Given the description of an element on the screen output the (x, y) to click on. 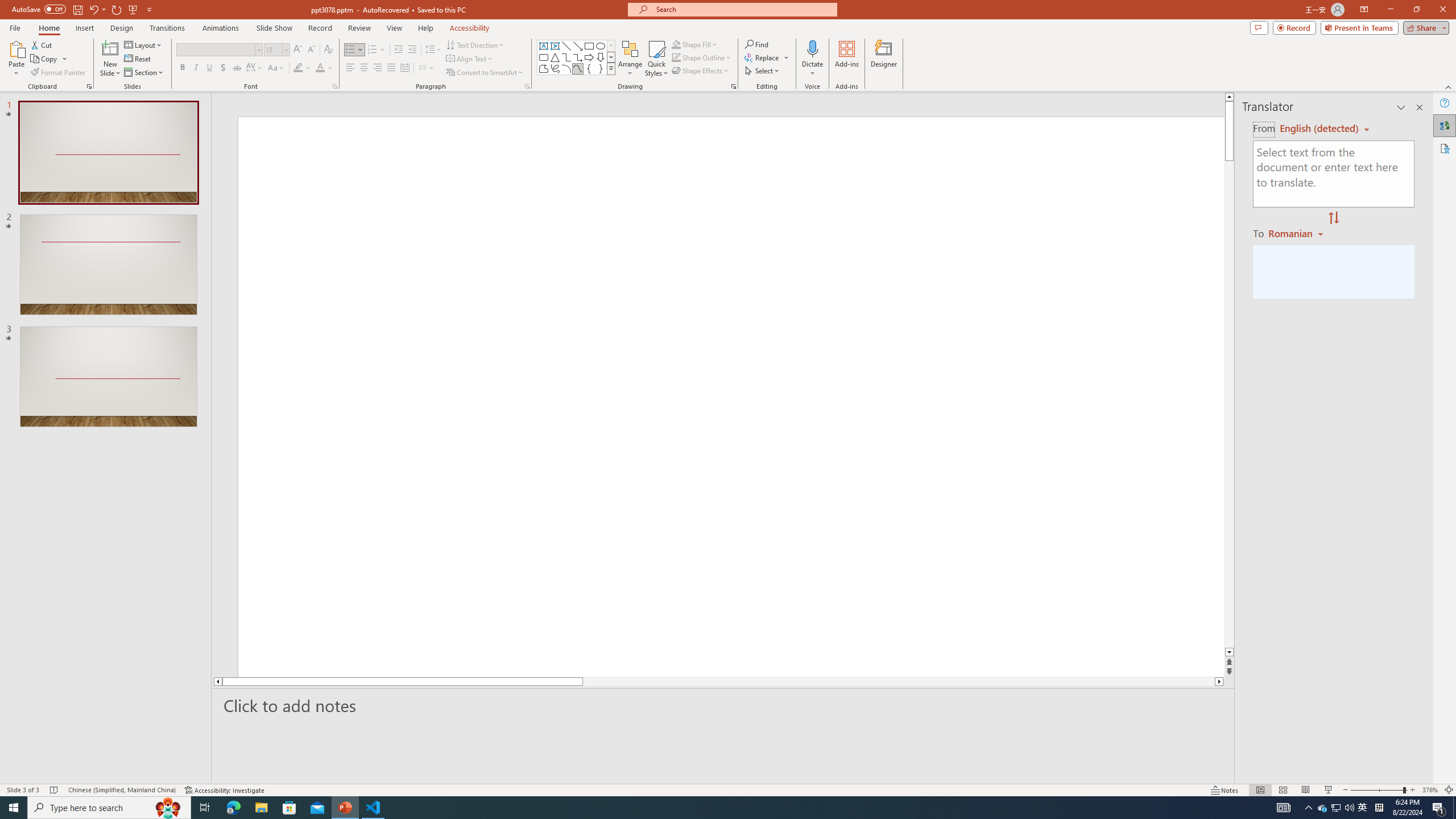
Font Color Red (320, 67)
Connector: Elbow Arrow (577, 57)
Quick Styles (656, 58)
Connector: Elbow (566, 57)
Curve (577, 68)
Format Object... (733, 85)
